Given the description of an element on the screen output the (x, y) to click on. 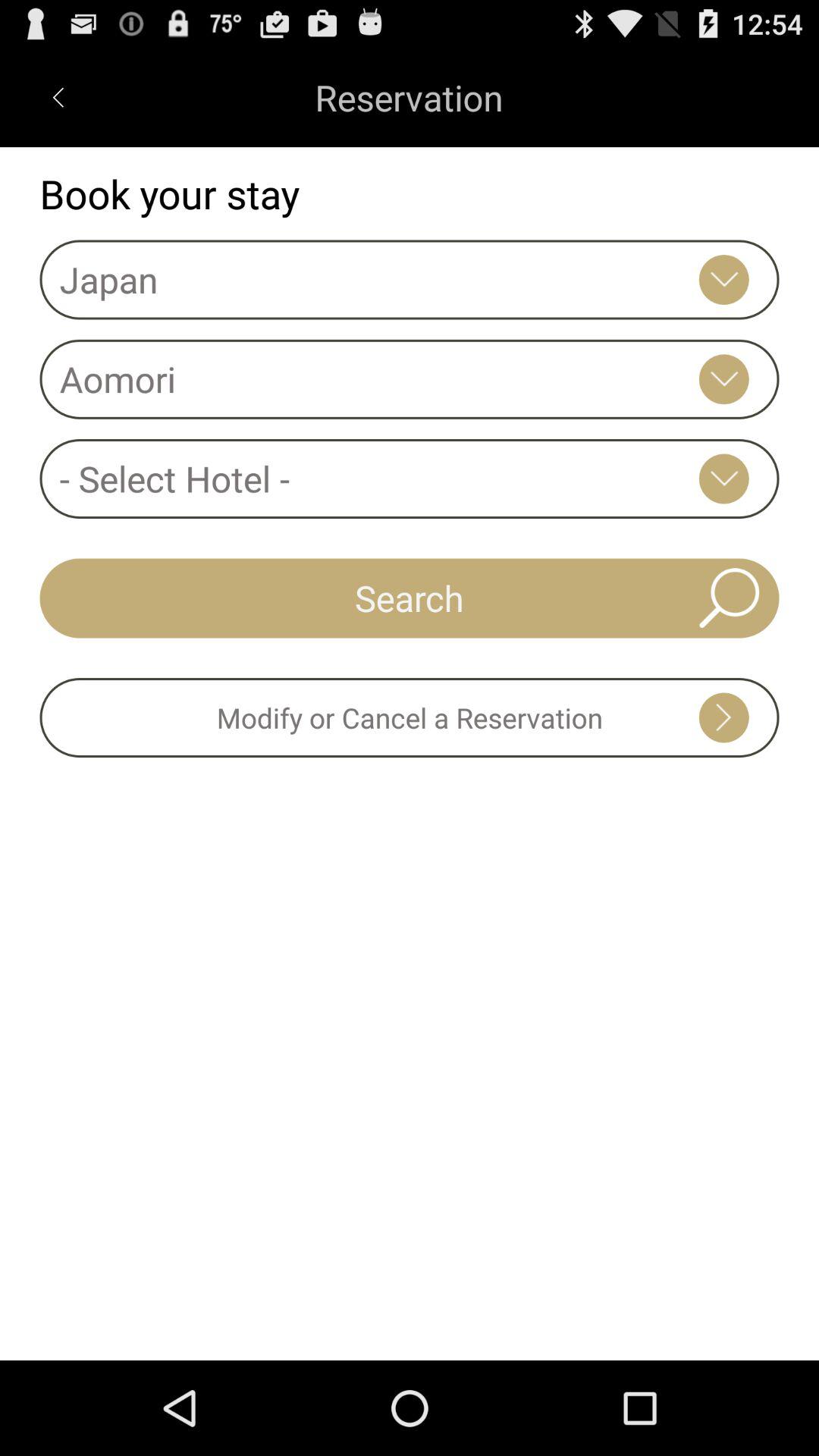
choose the item next to reservation (57, 97)
